Given the description of an element on the screen output the (x, y) to click on. 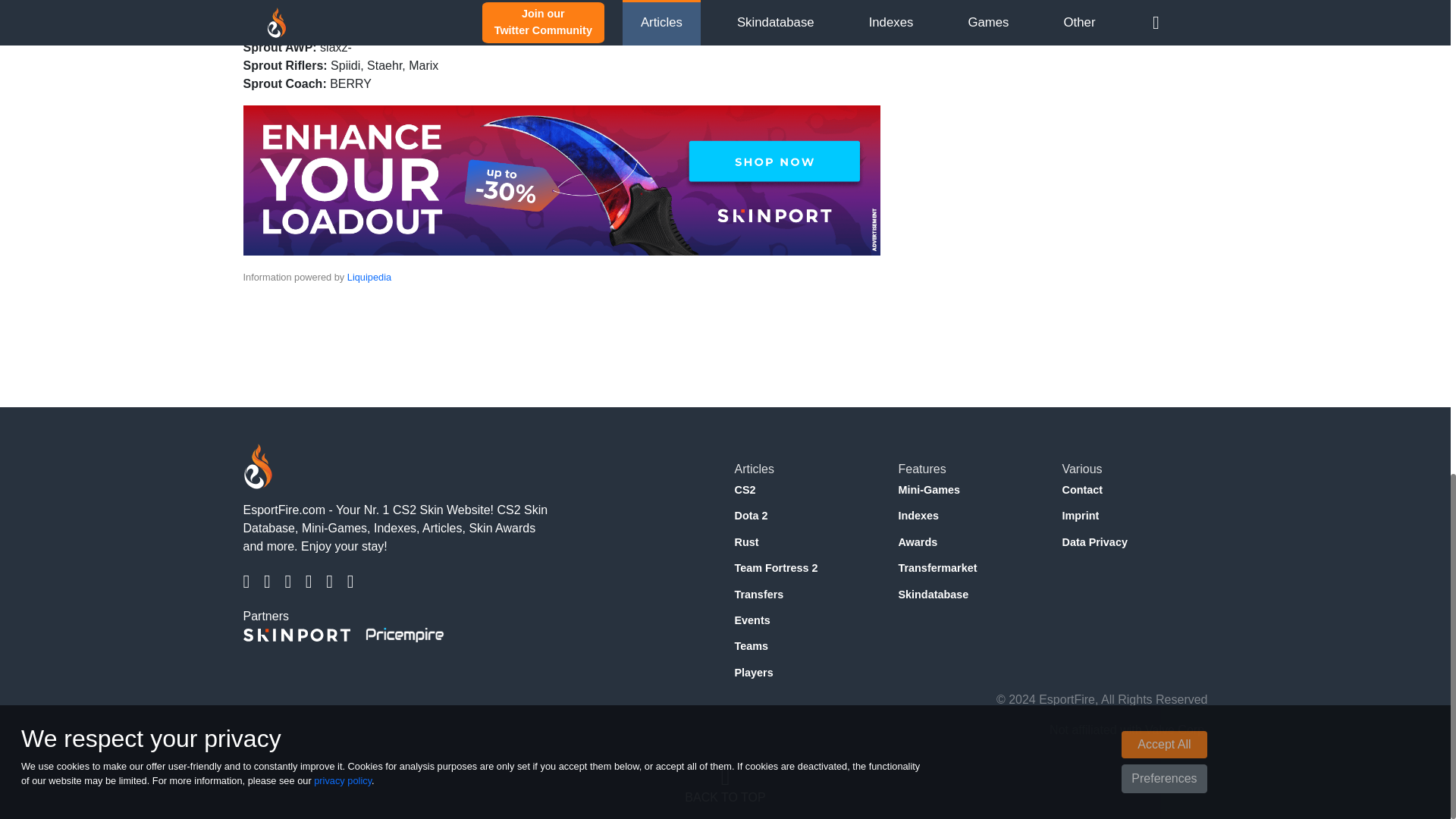
Liquipedia (369, 276)
